Given the description of an element on the screen output the (x, y) to click on. 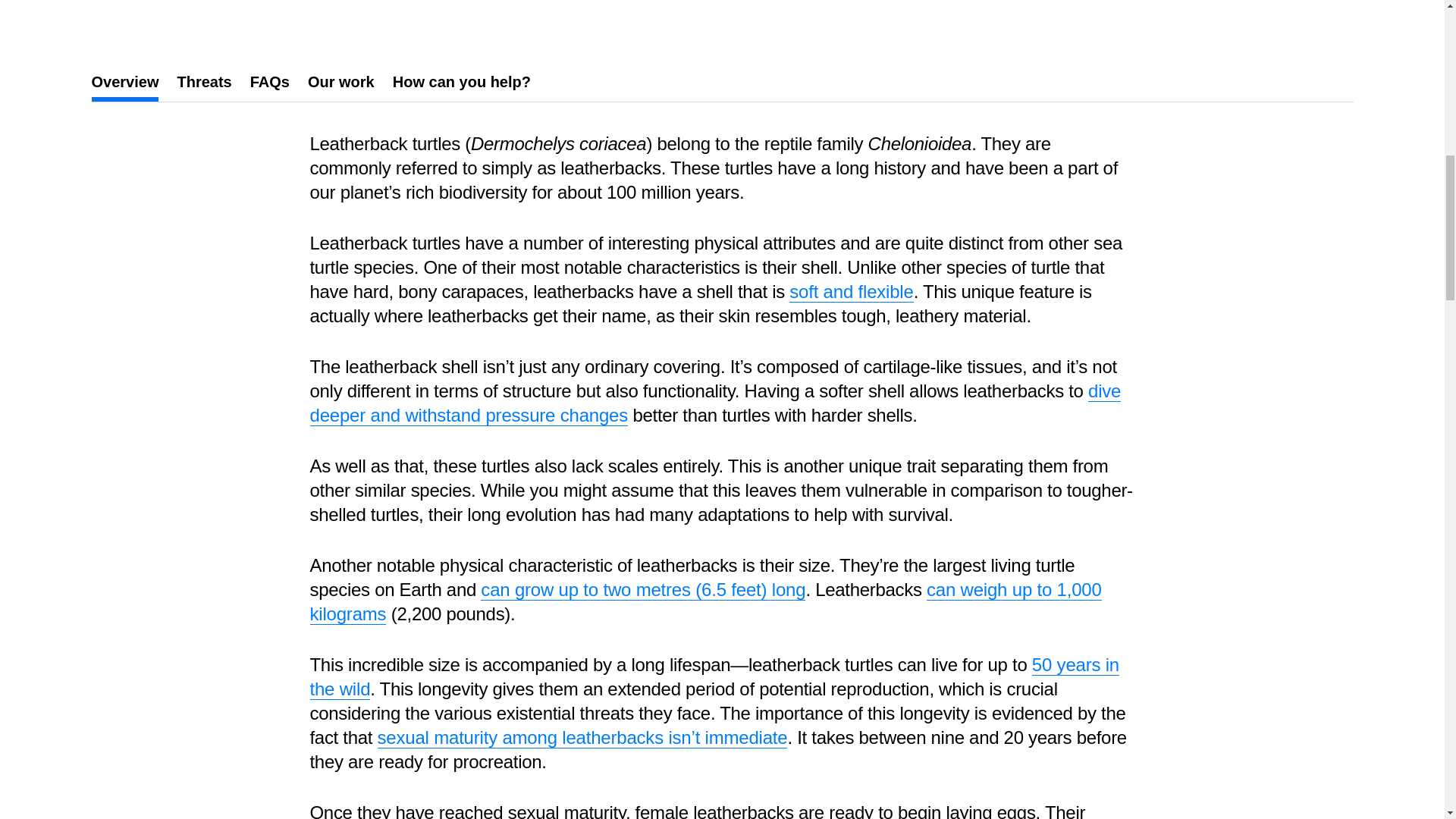
Overview (124, 81)
soft and flexible (850, 291)
can weigh up to 1,000 kilograms (704, 601)
FAQs (269, 81)
How can you help? (462, 81)
dive deeper and withstand pressure changes (714, 402)
Threats (203, 81)
Our work (340, 81)
50 years in the wild (713, 677)
